Given the description of an element on the screen output the (x, y) to click on. 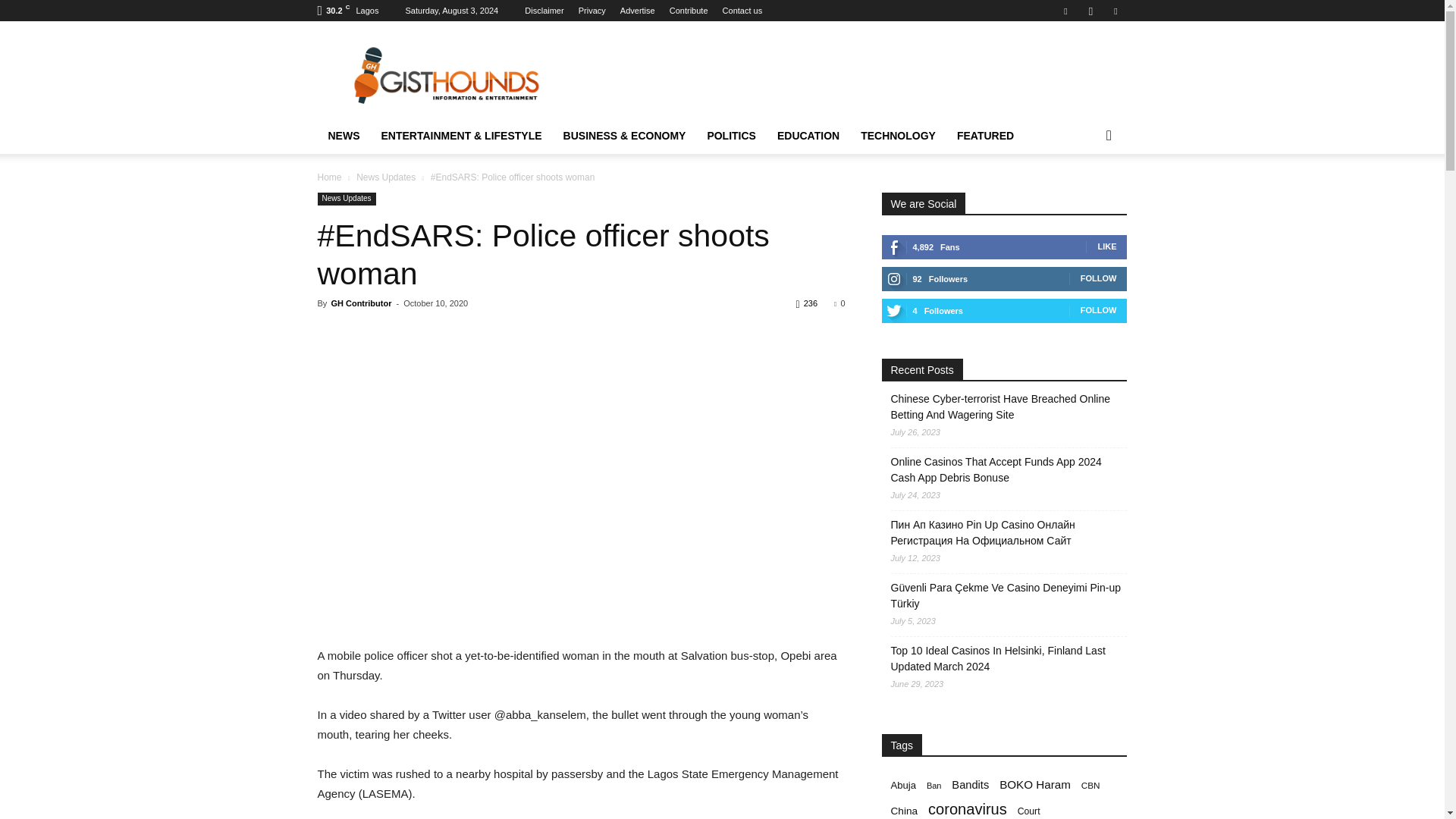
Advertise (637, 10)
NEWS (343, 135)
Twitter (1114, 10)
Contribute (688, 10)
Disclaimer (543, 10)
Contact us (742, 10)
TECHNOLOGY (898, 135)
Facebook (1065, 10)
POLITICS (731, 135)
Privacy (591, 10)
